Given the description of an element on the screen output the (x, y) to click on. 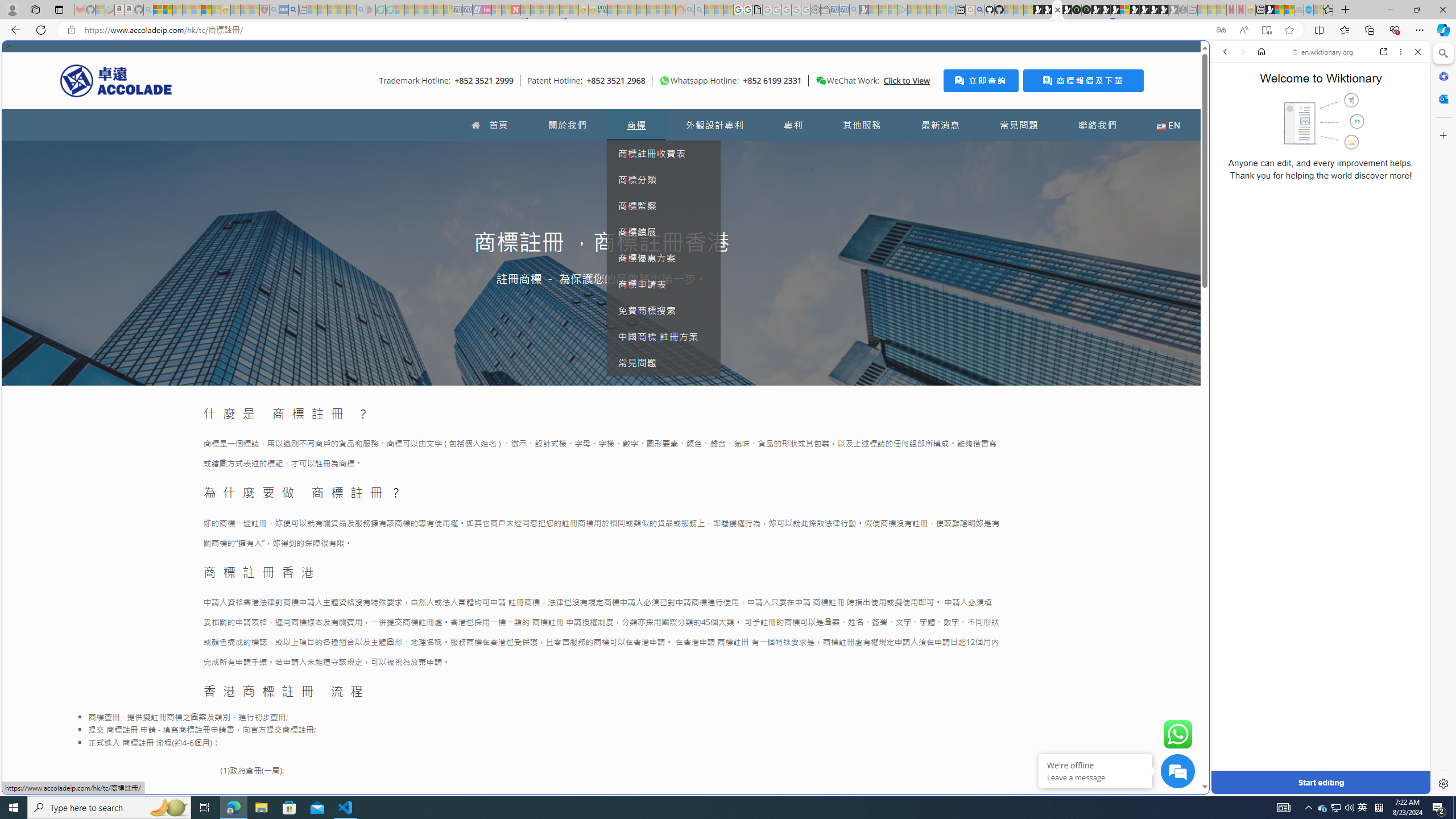
google - Search - Sleeping (360, 9)
Recipes - MSN - Sleeping (234, 9)
Tabs you've opened (885, 151)
